Given the description of an element on the screen output the (x, y) to click on. 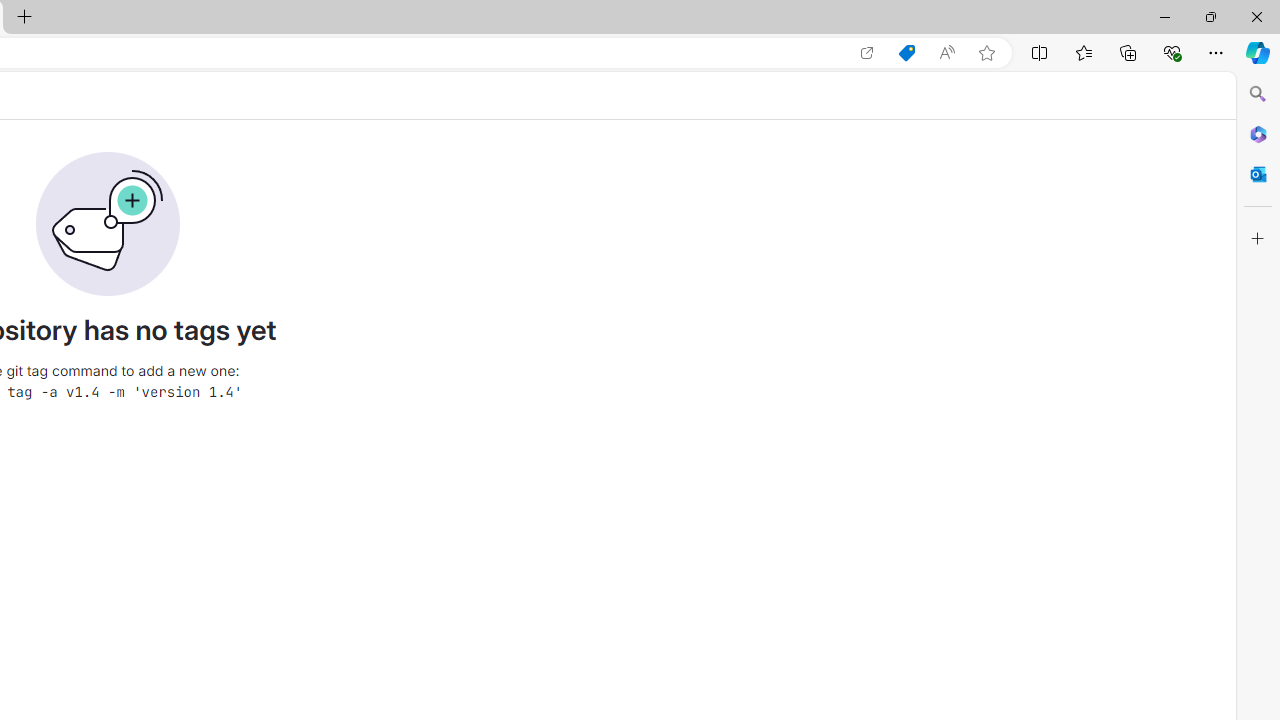
Shopping in Microsoft Edge (906, 53)
Close Outlook pane (1258, 174)
Open in app (867, 53)
Customize (1258, 239)
